Given the description of an element on the screen output the (x, y) to click on. 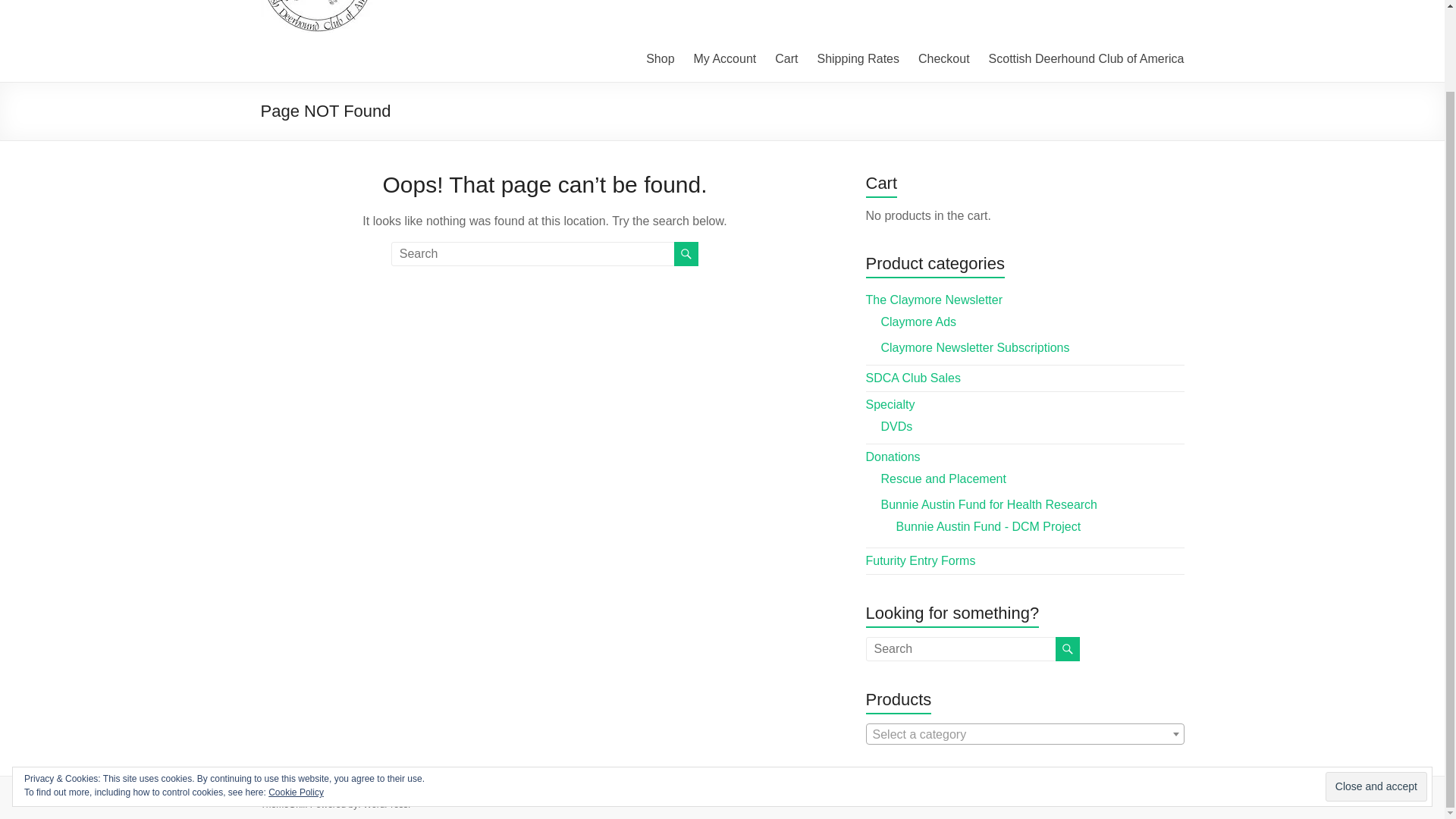
Donations (893, 456)
Checkout (943, 58)
Spacious (654, 790)
Shop (660, 58)
DVDs (896, 426)
Claymore Ads (918, 321)
Scottish Deerhound Club of America (1086, 58)
Specialty (890, 404)
Spacious (654, 790)
Cart (785, 58)
